Given the description of an element on the screen output the (x, y) to click on. 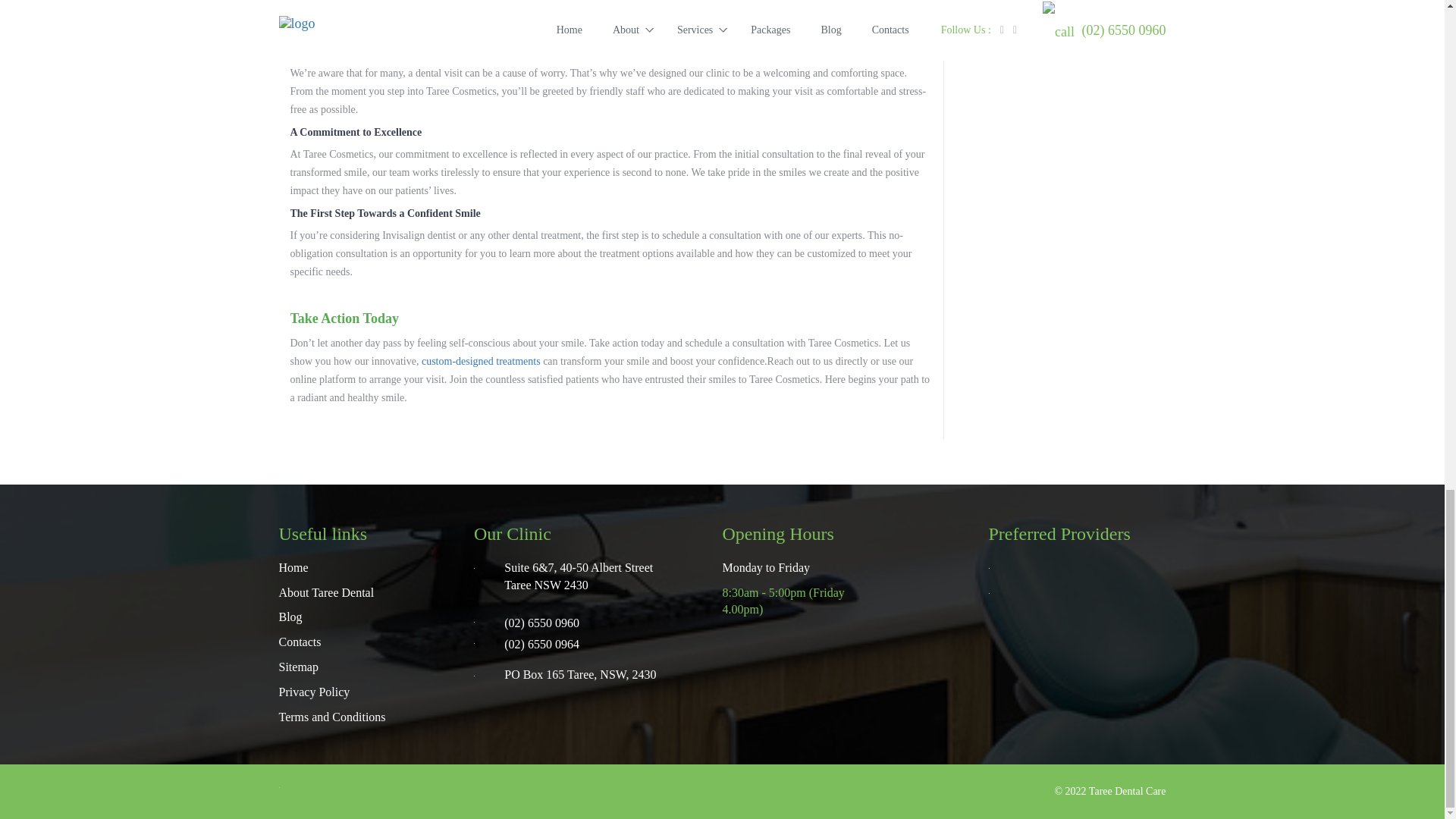
Terms and Conditions (332, 717)
Privacy Policy (314, 692)
About Taree Dental (326, 592)
Contacts (300, 642)
custom-designed treatments (481, 360)
Blog (290, 617)
Sitemap (298, 667)
Home (293, 568)
